Given the description of an element on the screen output the (x, y) to click on. 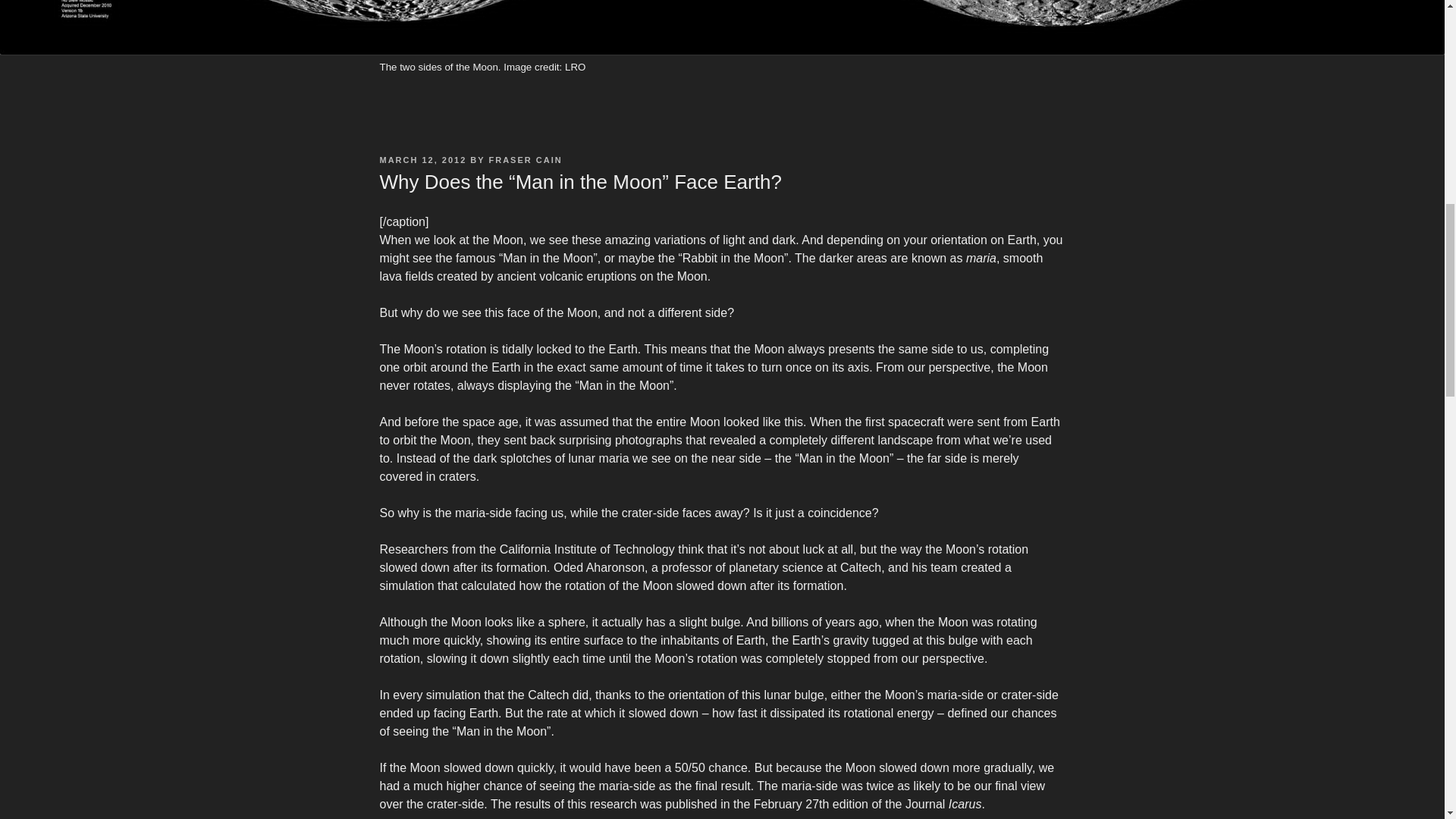
MARCH 12, 2012 (421, 159)
FRASER CAIN (525, 159)
